Given the description of an element on the screen output the (x, y) to click on. 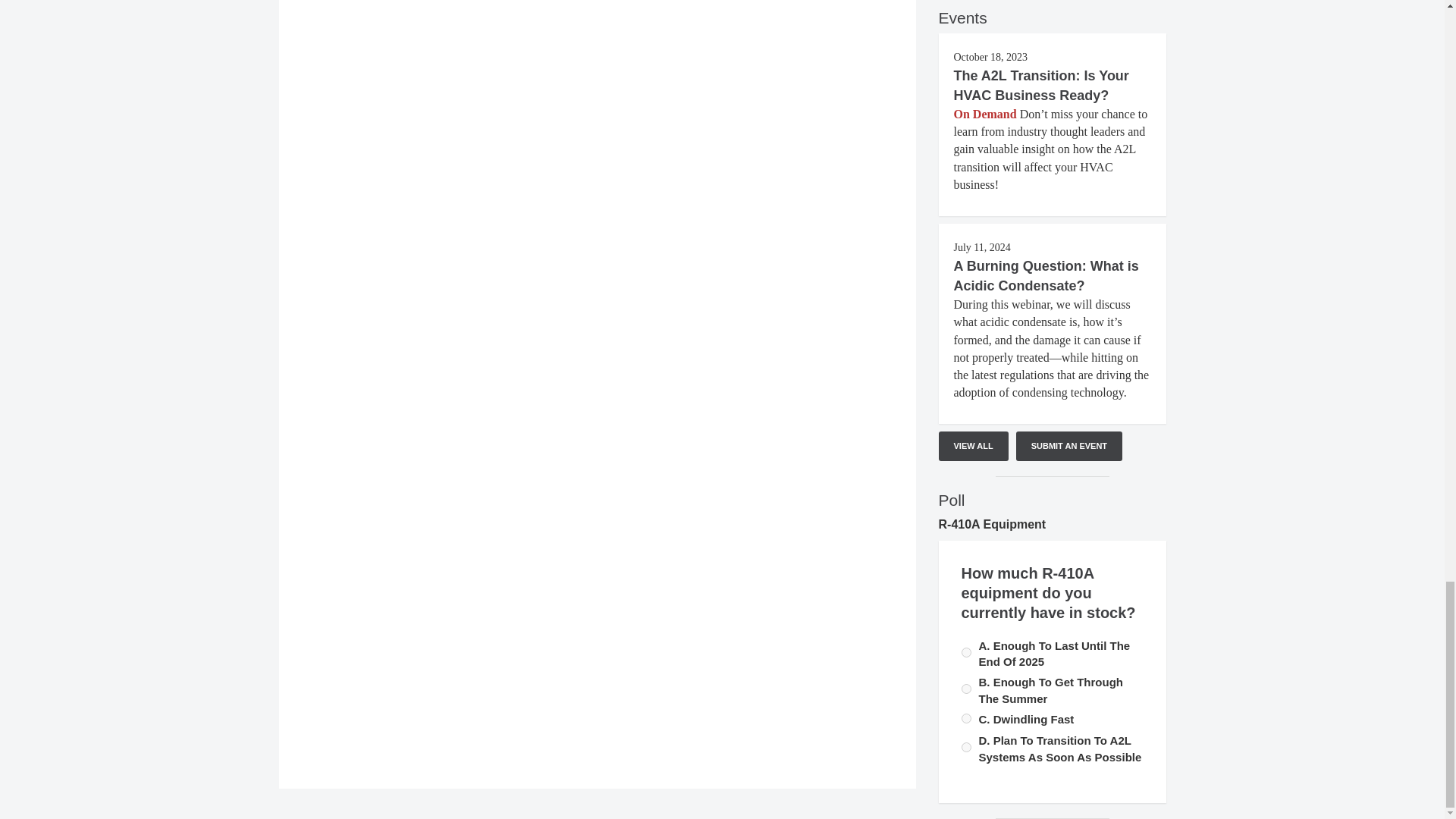
599 (965, 747)
596 (965, 688)
The A2L Transition: Is Your HVAC Business Ready? (1041, 85)
598 (965, 718)
597 (965, 652)
A Burning Question: What is Acidic Condensate? (1045, 275)
